Given the description of an element on the screen output the (x, y) to click on. 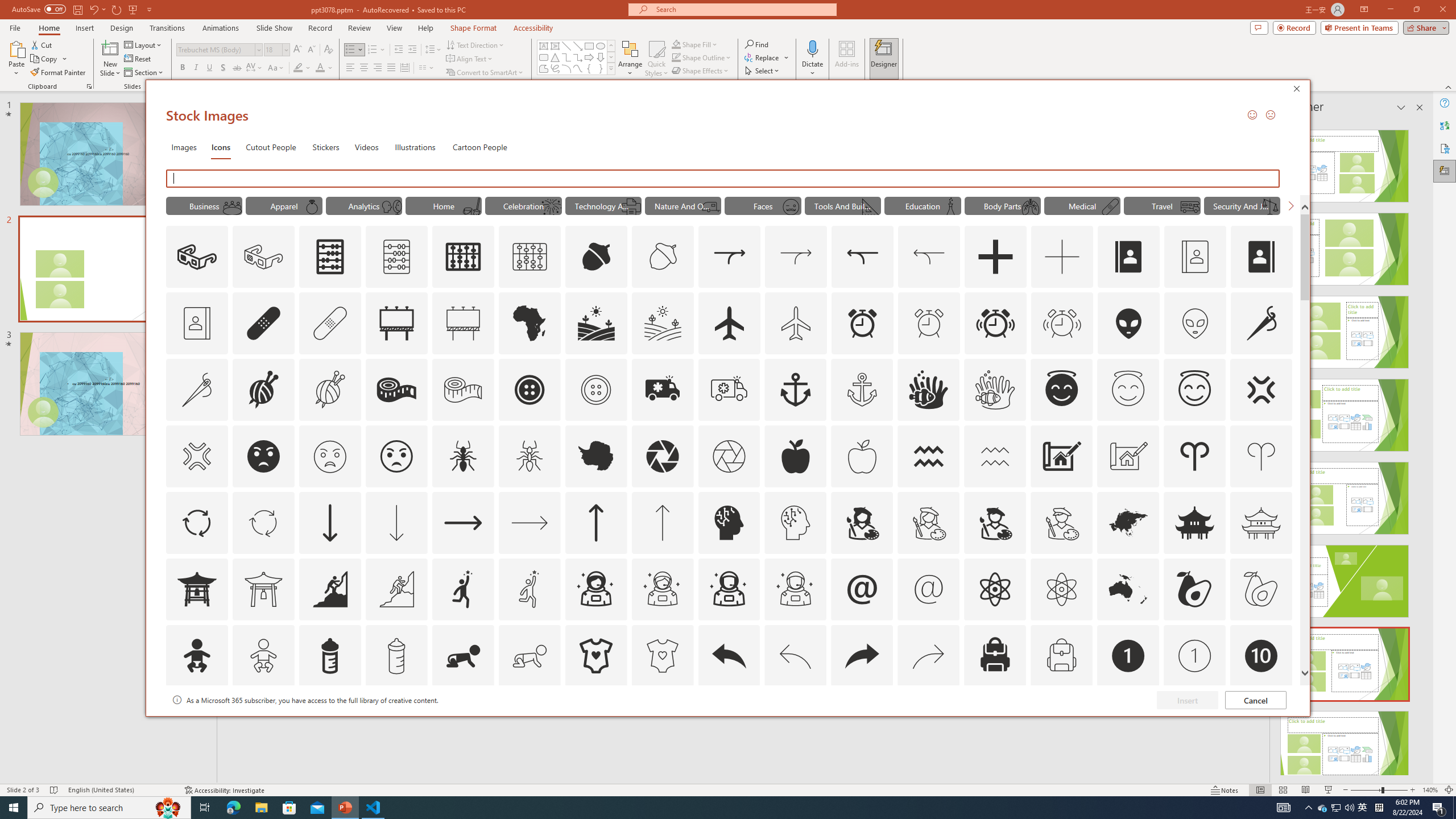
"Technology And Electronics" Icons. (603, 205)
AutomationID: Icons_ArrowRight_M (529, 522)
AutomationID: Icons_Avocado (1194, 588)
AutomationID: Icons_ArtistMale_M (1061, 522)
AutomationID: Icons_AddressBook_RTL_M (197, 323)
AutomationID: Icons_AlarmClock_M (928, 323)
